Given the description of an element on the screen output the (x, y) to click on. 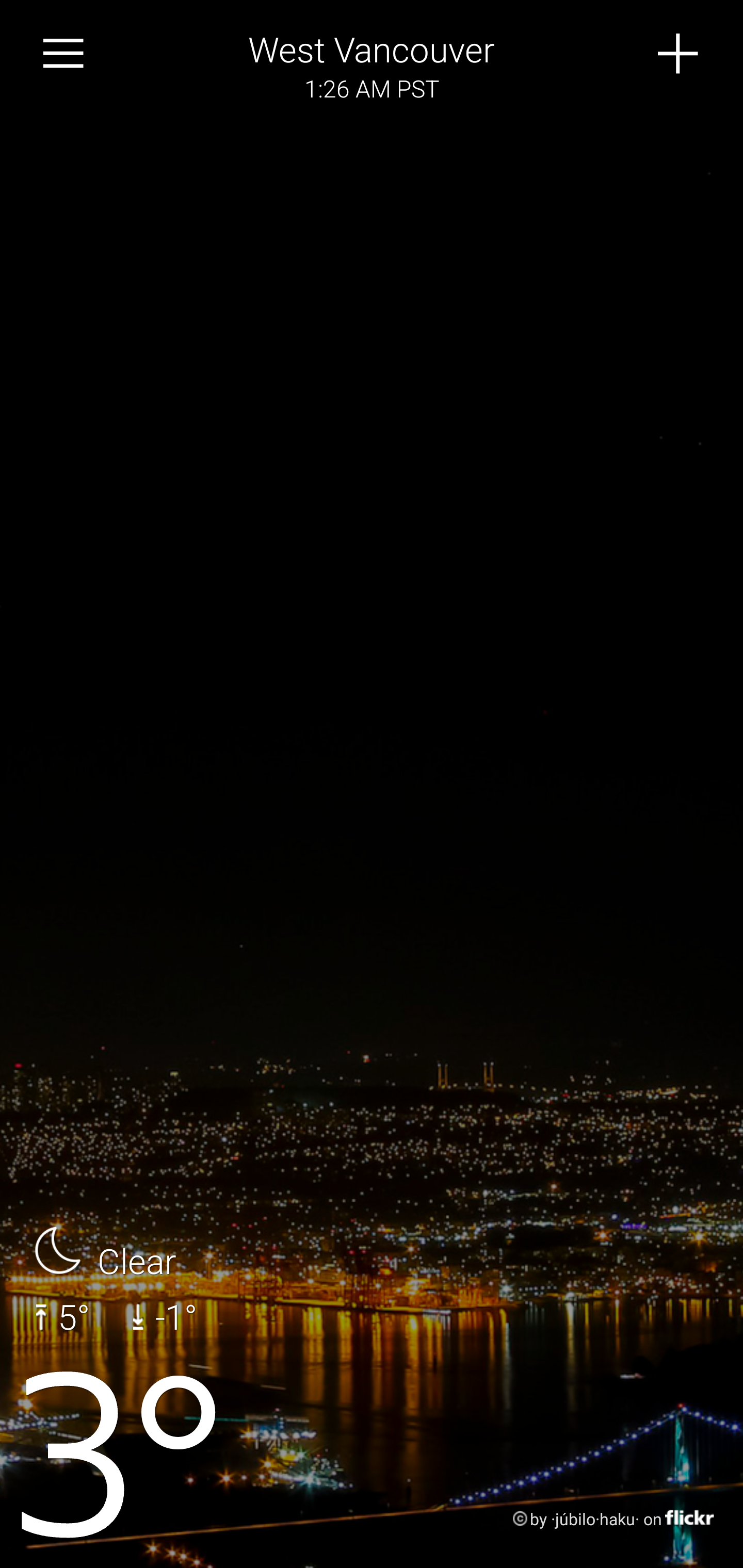
Sidebar (64, 54)
Add City (678, 53)
